Given the description of an element on the screen output the (x, y) to click on. 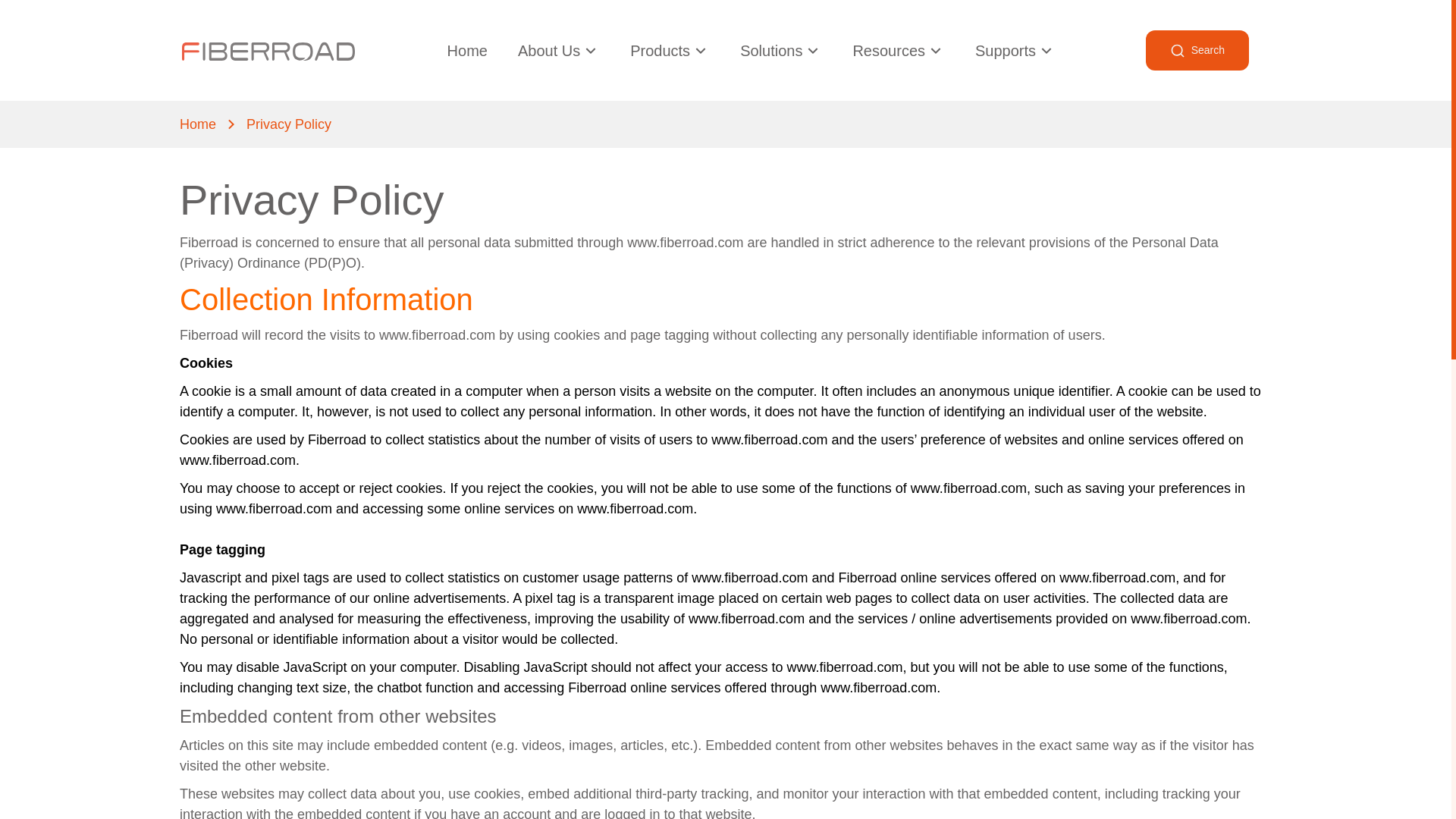
Home (466, 50)
About Us (558, 50)
Products (670, 50)
